Given the description of an element on the screen output the (x, y) to click on. 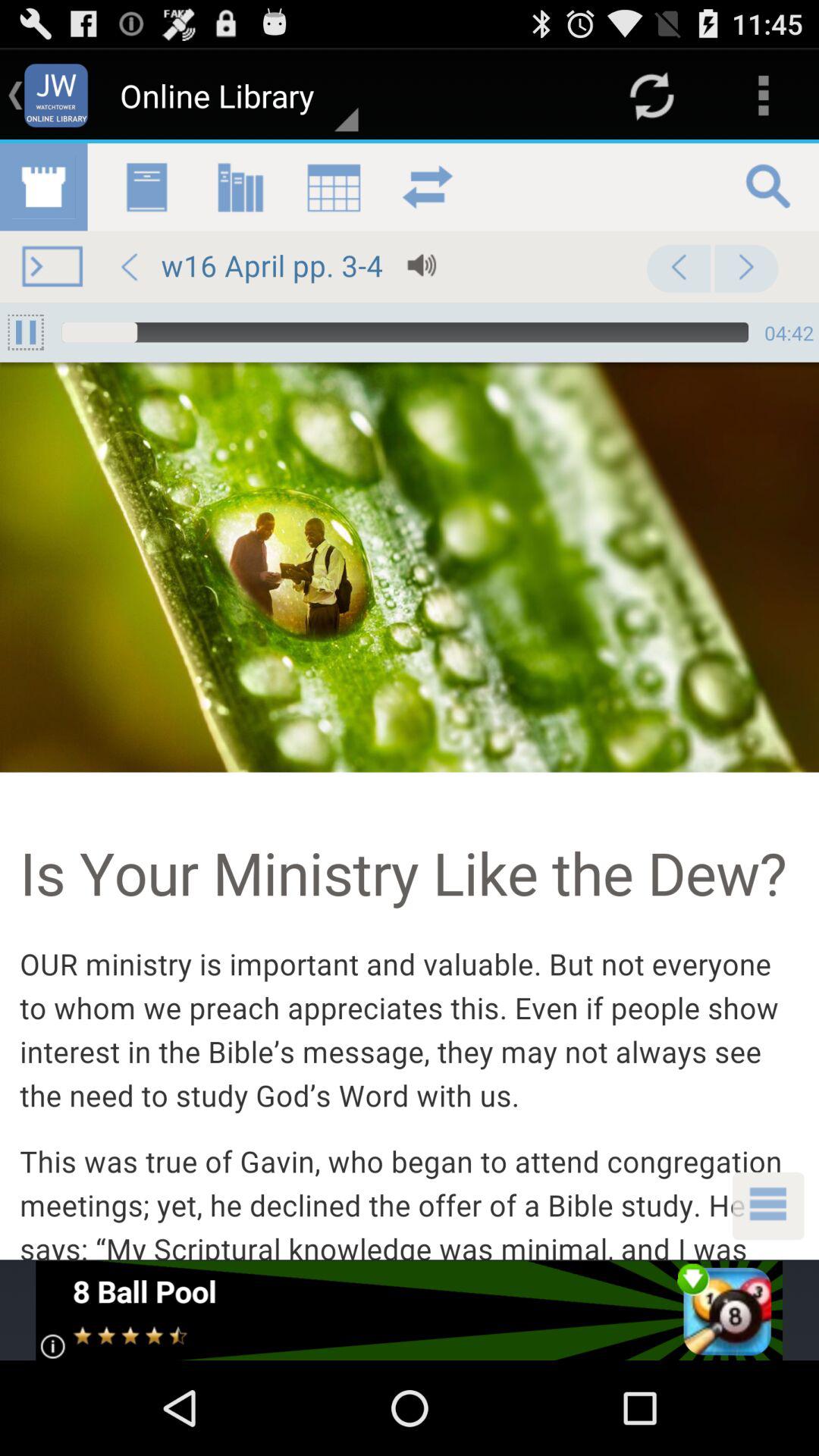
view article (409, 701)
